Given the description of an element on the screen output the (x, y) to click on. 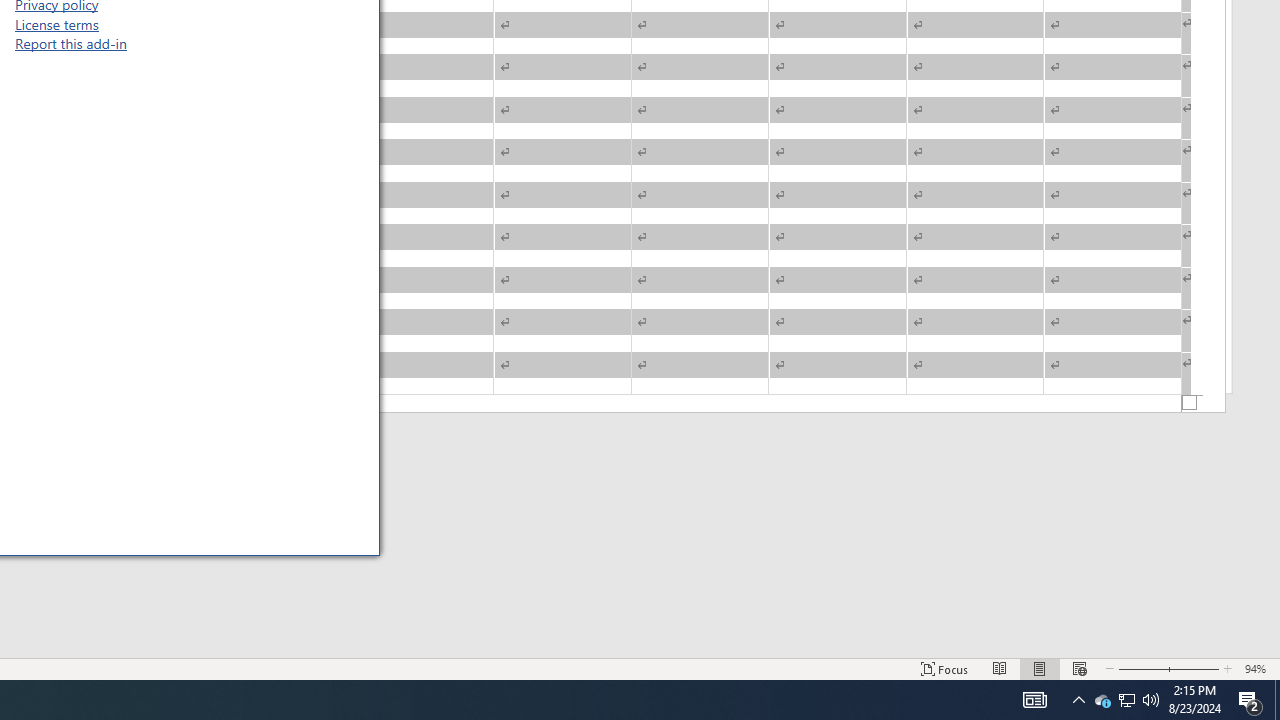
License terms (56, 23)
